Given the description of an element on the screen output the (x, y) to click on. 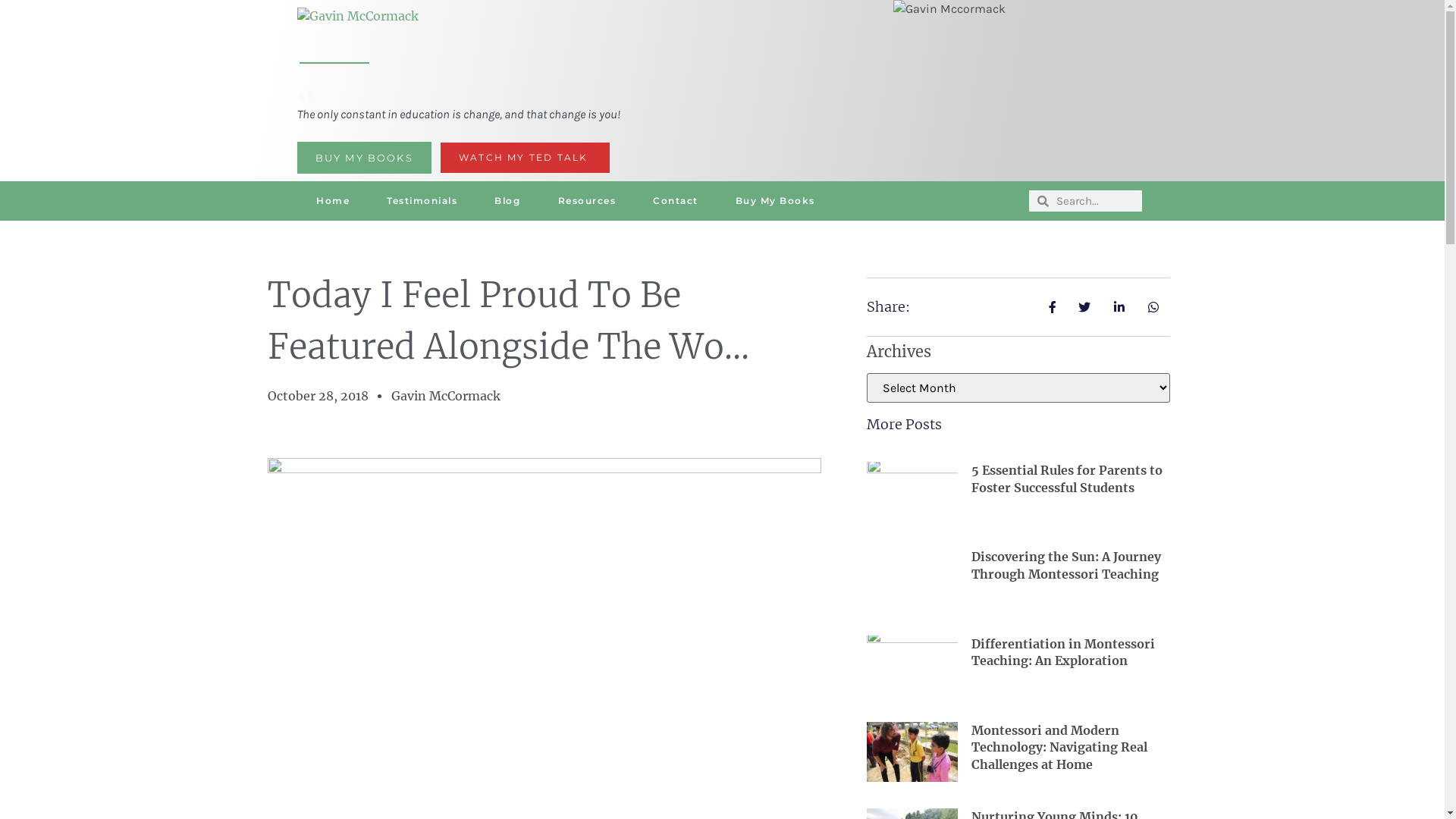
Contact Element type: text (675, 200)
5 Essential Rules for Parents to Foster Successful Students Element type: text (1065, 478)
Home Element type: text (332, 200)
Testimonials Element type: text (422, 200)
Differentiation in Montessori Teaching: An Exploration Element type: text (1062, 652)
Buy My Books Element type: text (774, 200)
Gavin Mccormack Element type: hover (949, 9)
Blog Element type: text (507, 200)
Resources Element type: text (586, 200)
Discovering the Sun: A Journey Through Montessori Teaching Element type: text (1065, 564)
Gavin McCormack Element type: text (445, 395)
WATCH MY TED TALK Element type: text (524, 157)
BUY MY BOOKS Element type: text (364, 157)
October 28, 2018 Element type: text (316, 395)
